Given the description of an element on the screen output the (x, y) to click on. 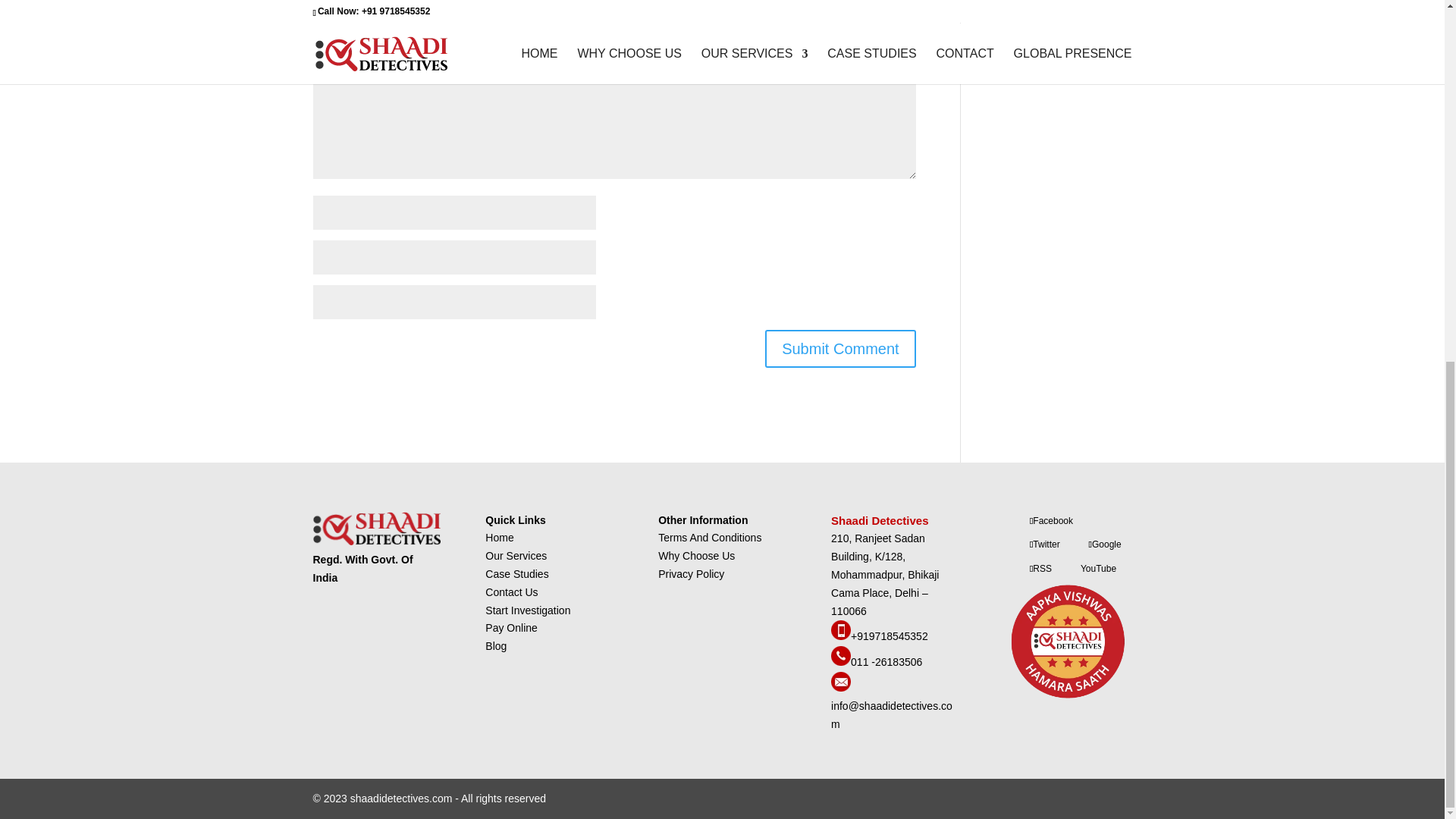
1800 3000 7005 (889, 635)
Start Investigation (527, 610)
Contact (510, 592)
Our Services (515, 555)
011-26183506 (840, 662)
email (891, 715)
Home (498, 537)
1800 3000 7005 (840, 635)
Contact (510, 627)
email (840, 687)
Case Studies (516, 573)
Shaadi Detectives (881, 520)
011-41618585 (885, 662)
Submit Comment (840, 348)
Submit Comment (840, 348)
